Given the description of an element on the screen output the (x, y) to click on. 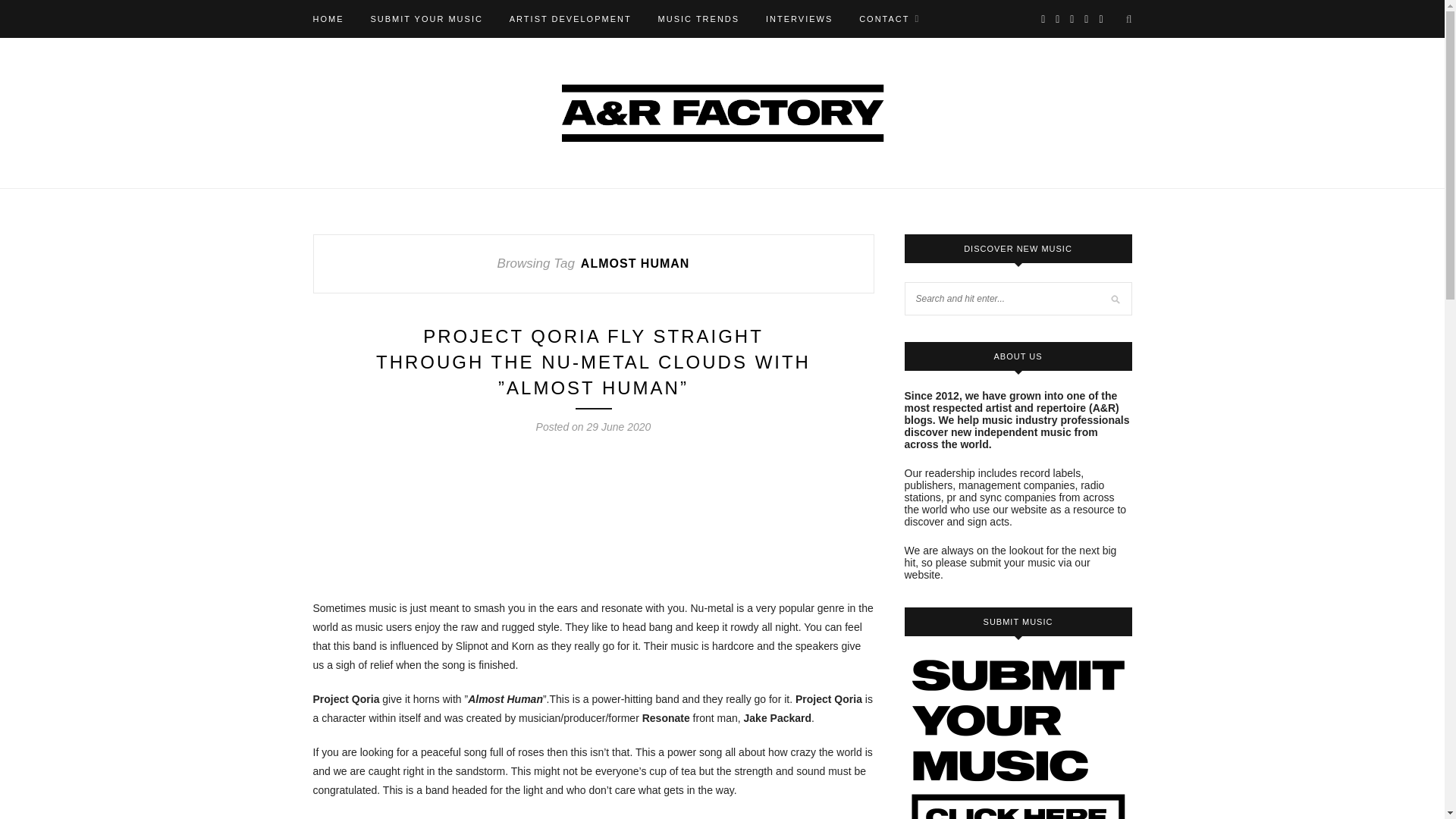
Soundcloud (425, 818)
Almost Human by Project Qoria (593, 515)
SUBMIT YOUR MUSIC (426, 18)
MUSIC TRENDS (698, 18)
ARTIST DEVELOPMENT (570, 18)
INTERVIEWS (798, 18)
CONTACT (889, 18)
